Given the description of an element on the screen output the (x, y) to click on. 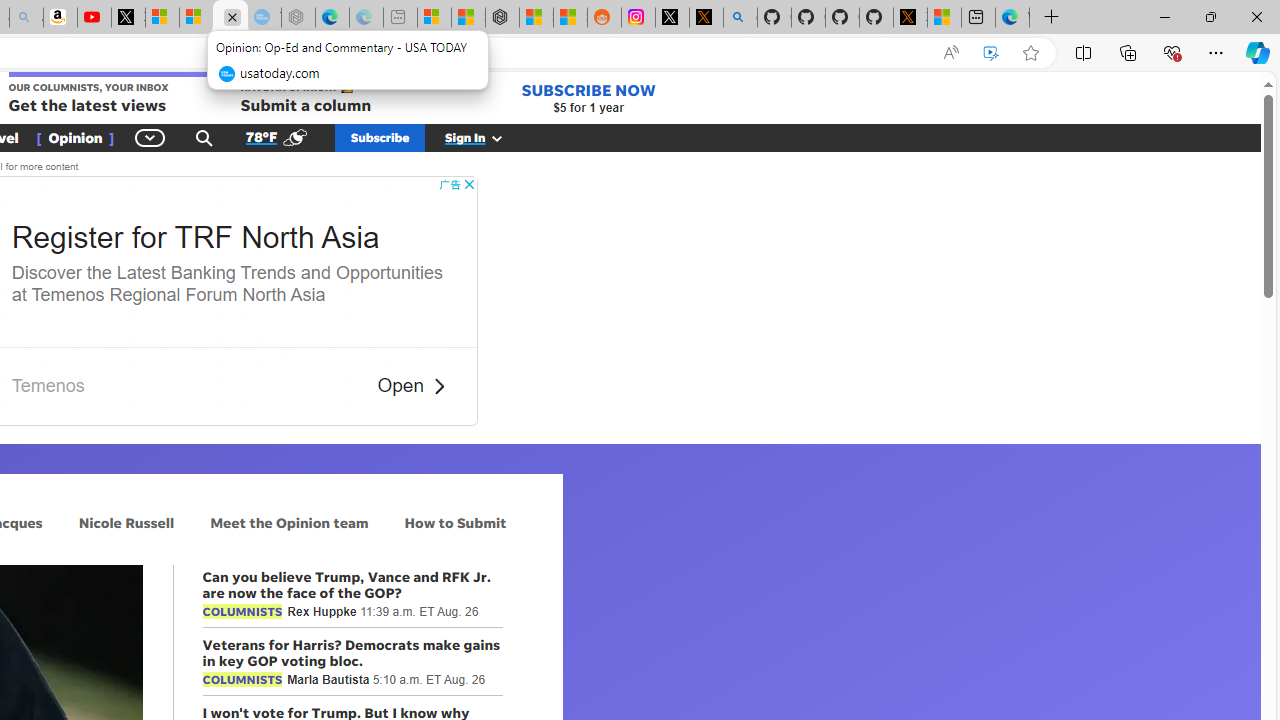
Global Navigation (150, 137)
AutomationID: cbb (468, 184)
X (127, 17)
Day 1: Arriving in Yemen (surreal to be here) - YouTube (94, 17)
[ Opinion ] (75, 137)
Class: gnt_n_dd_bt_svg (150, 137)
Nicole Russell (125, 521)
OUR COLUMNISTS, YOUR INBOX Get the latest views (107, 94)
Meet the Opinion team (289, 521)
Open (400, 385)
